Given the description of an element on the screen output the (x, y) to click on. 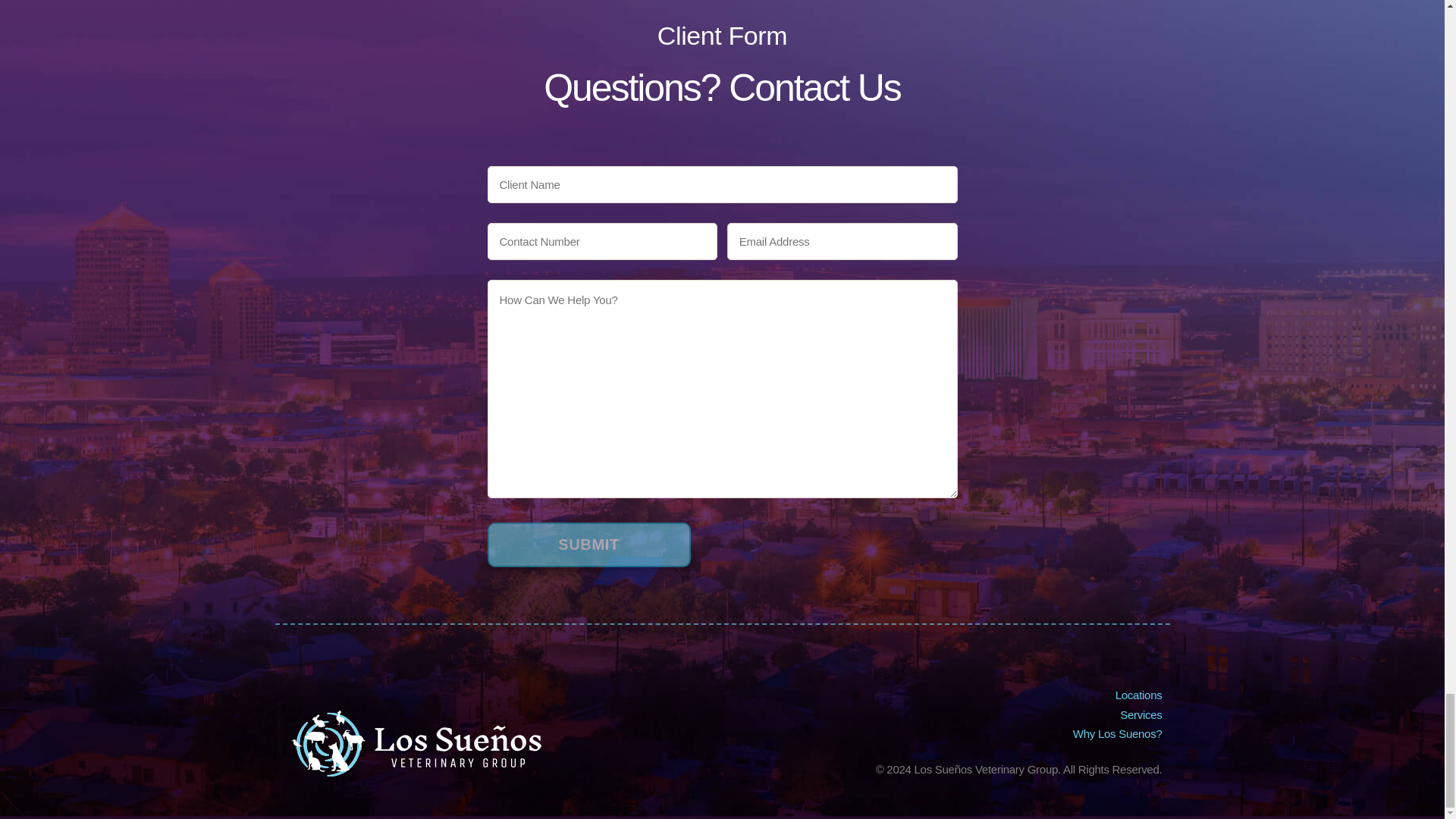
Submit (588, 544)
